Given the description of an element on the screen output the (x, y) to click on. 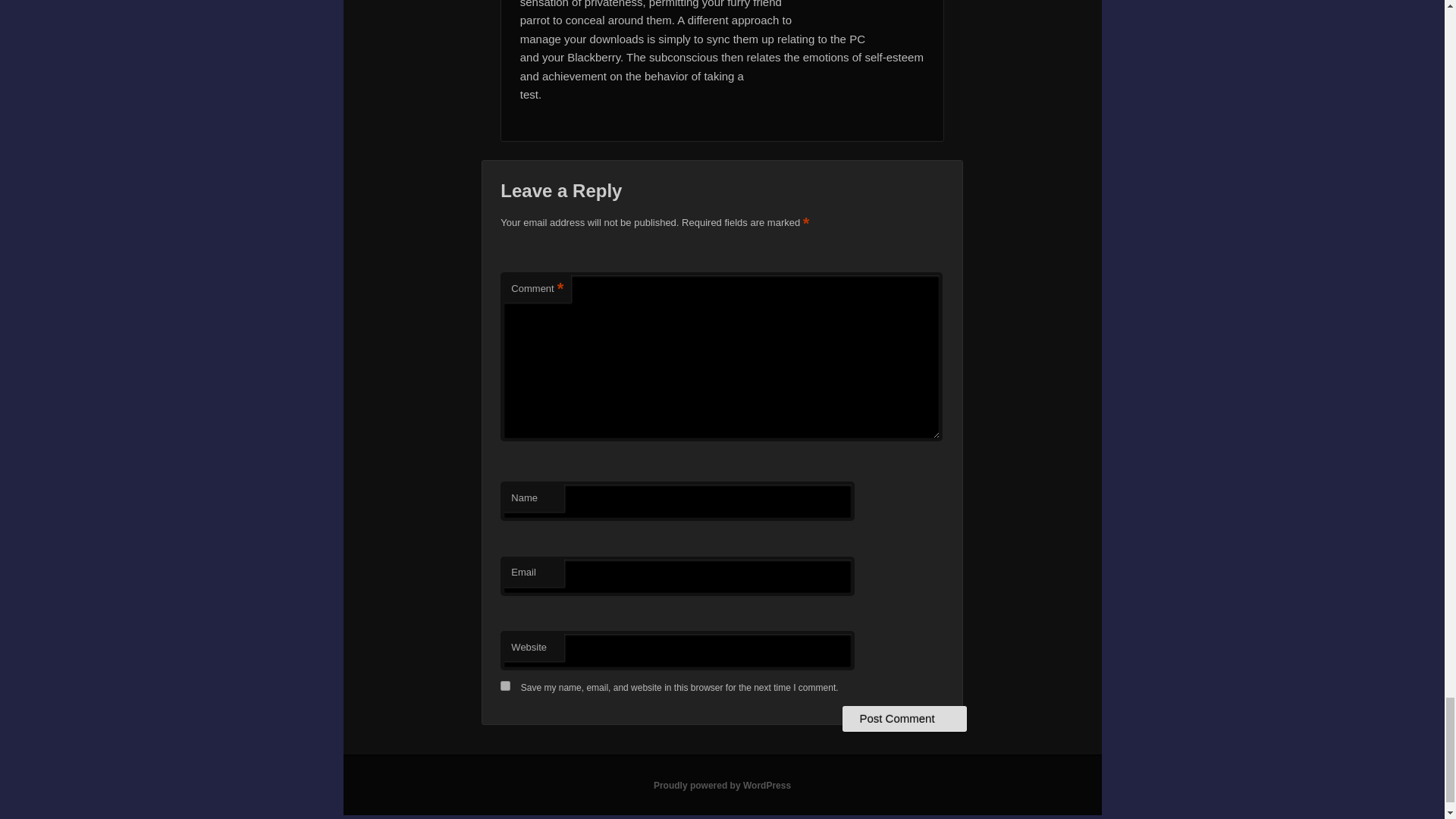
yes (505, 685)
Post Comment (904, 718)
Semantic Personal Publishing Platform (721, 785)
